Given the description of an element on the screen output the (x, y) to click on. 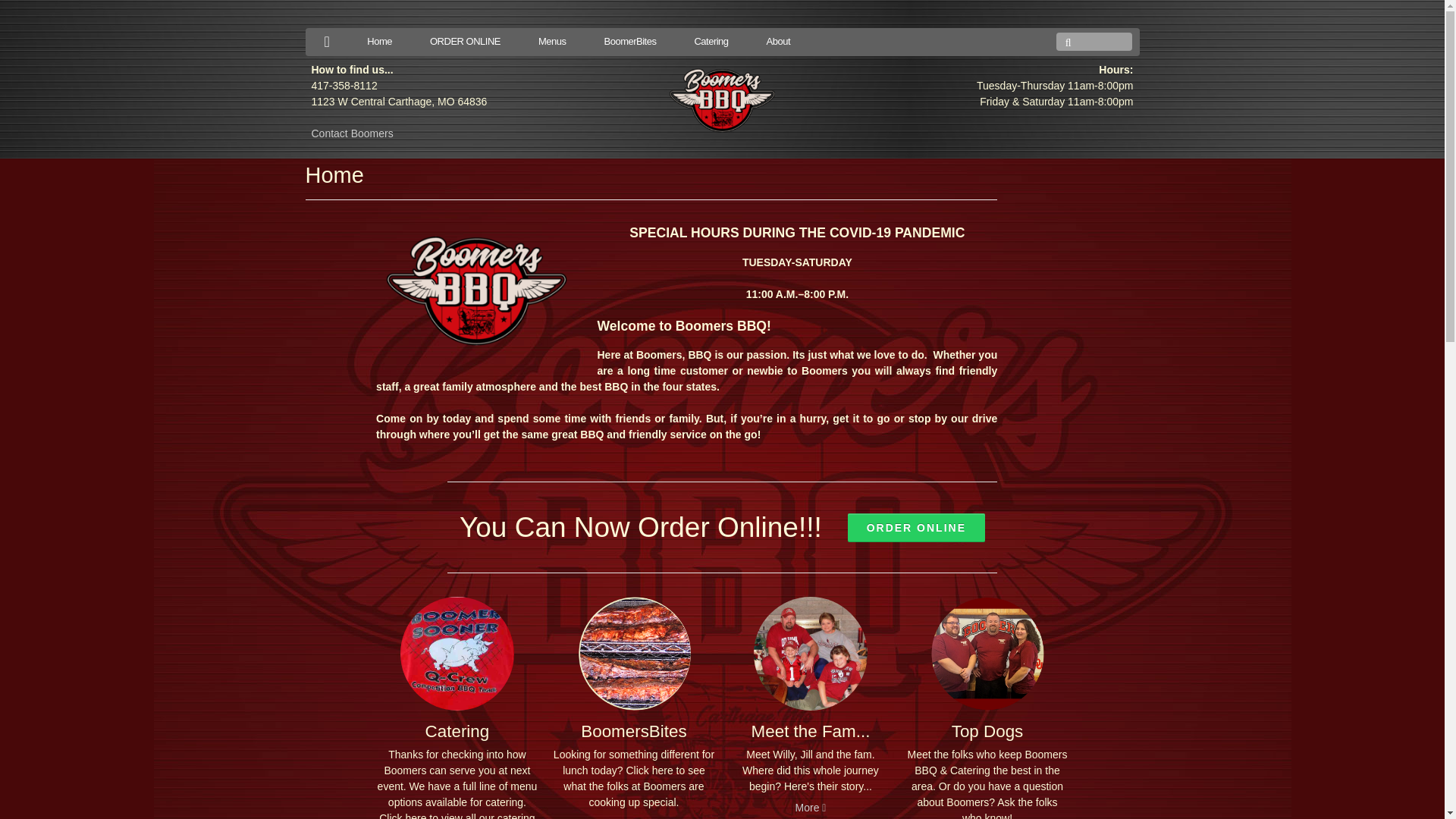
Catering (710, 41)
About (778, 41)
BoomerBites (630, 41)
ORDER ONLINE (464, 41)
Home (378, 41)
Contact Boomers (352, 133)
Menus (552, 41)
Home (650, 179)
ORDER ONLINE (916, 527)
More (633, 818)
More (810, 807)
